Given the description of an element on the screen output the (x, y) to click on. 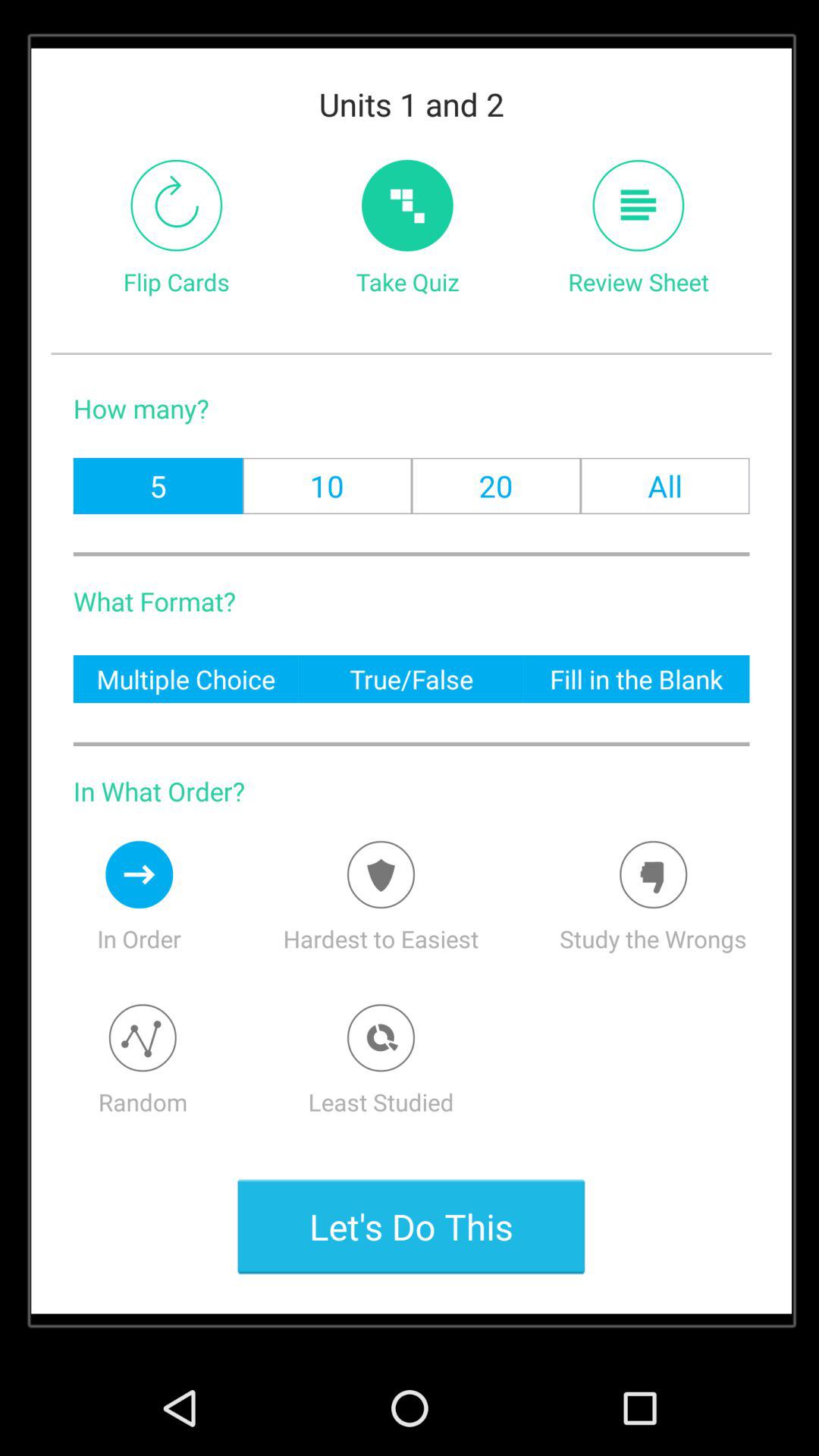
study the wrongs (653, 874)
